Given the description of an element on the screen output the (x, y) to click on. 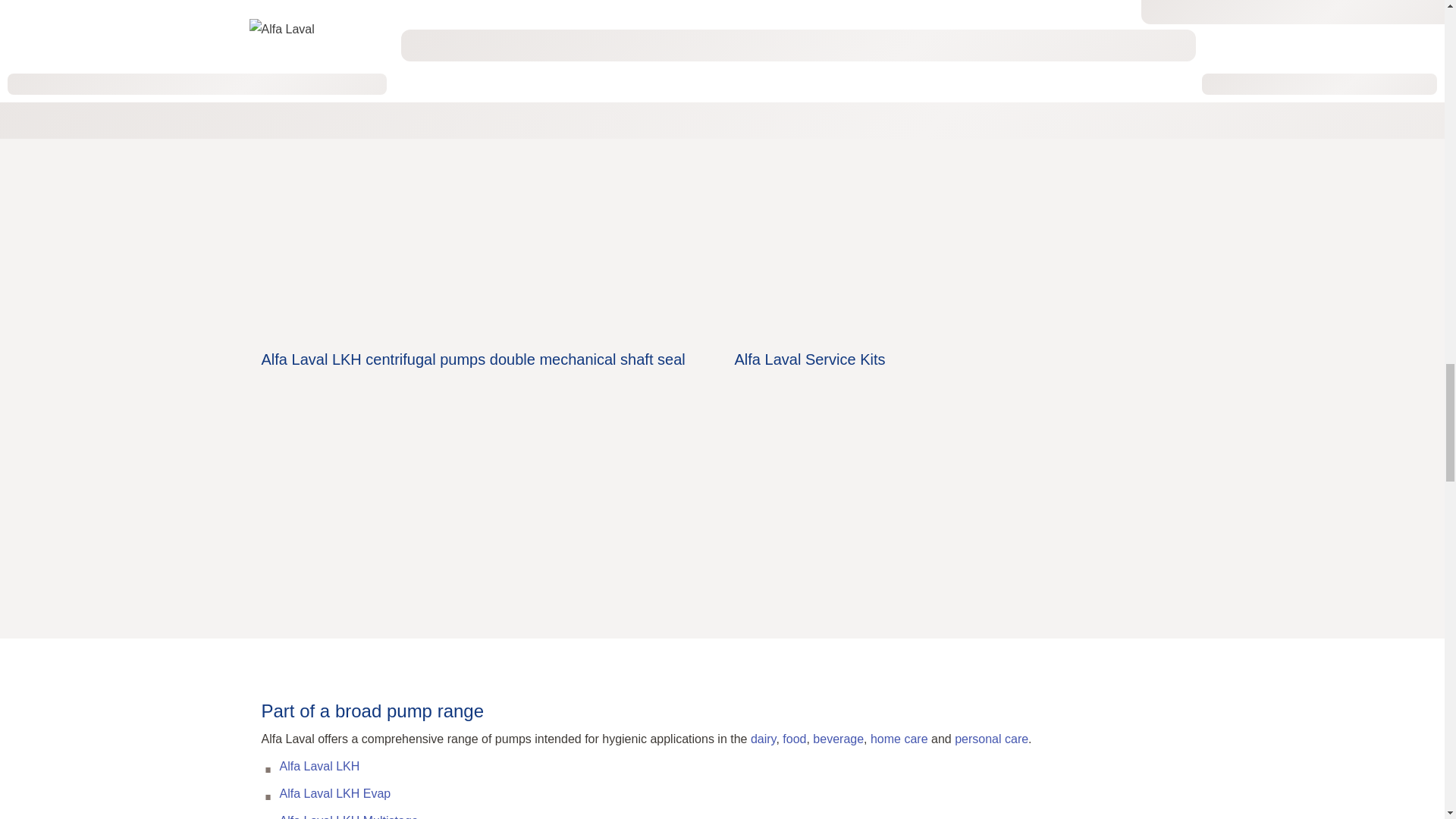
dairy (763, 738)
beverage (837, 738)
Alfa Laval LKH Evap (334, 793)
Personal Care  (991, 738)
Alfa Laval LKH (319, 766)
Alfa Laval LKH Multistage (348, 816)
Alfa Laval LKH Evap (334, 793)
Home Care (899, 738)
Alfa Laval LKH Multistage (348, 816)
beverage (837, 738)
